Given the description of an element on the screen output the (x, y) to click on. 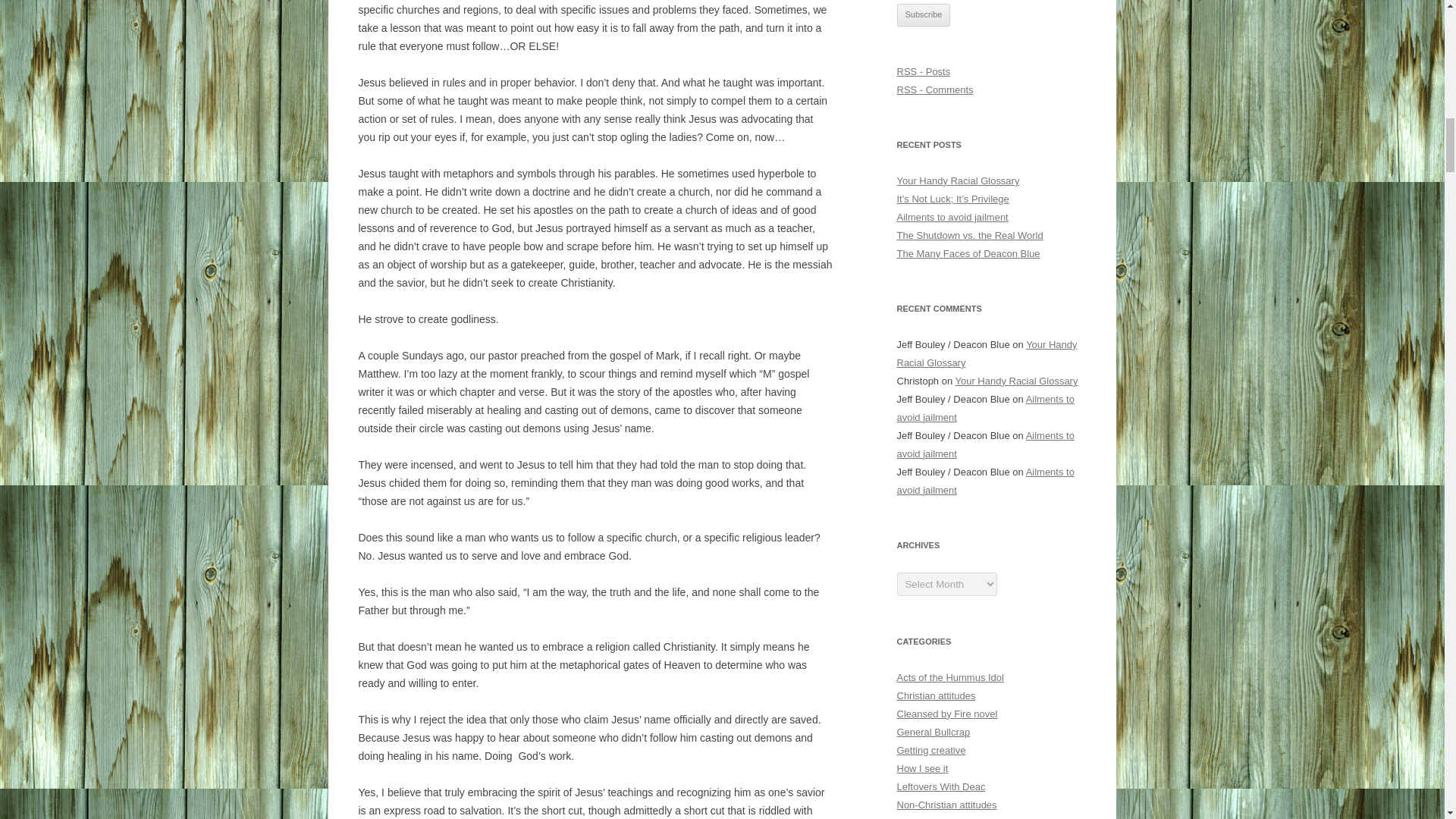
Subscribe (923, 15)
